Given the description of an element on the screen output the (x, y) to click on. 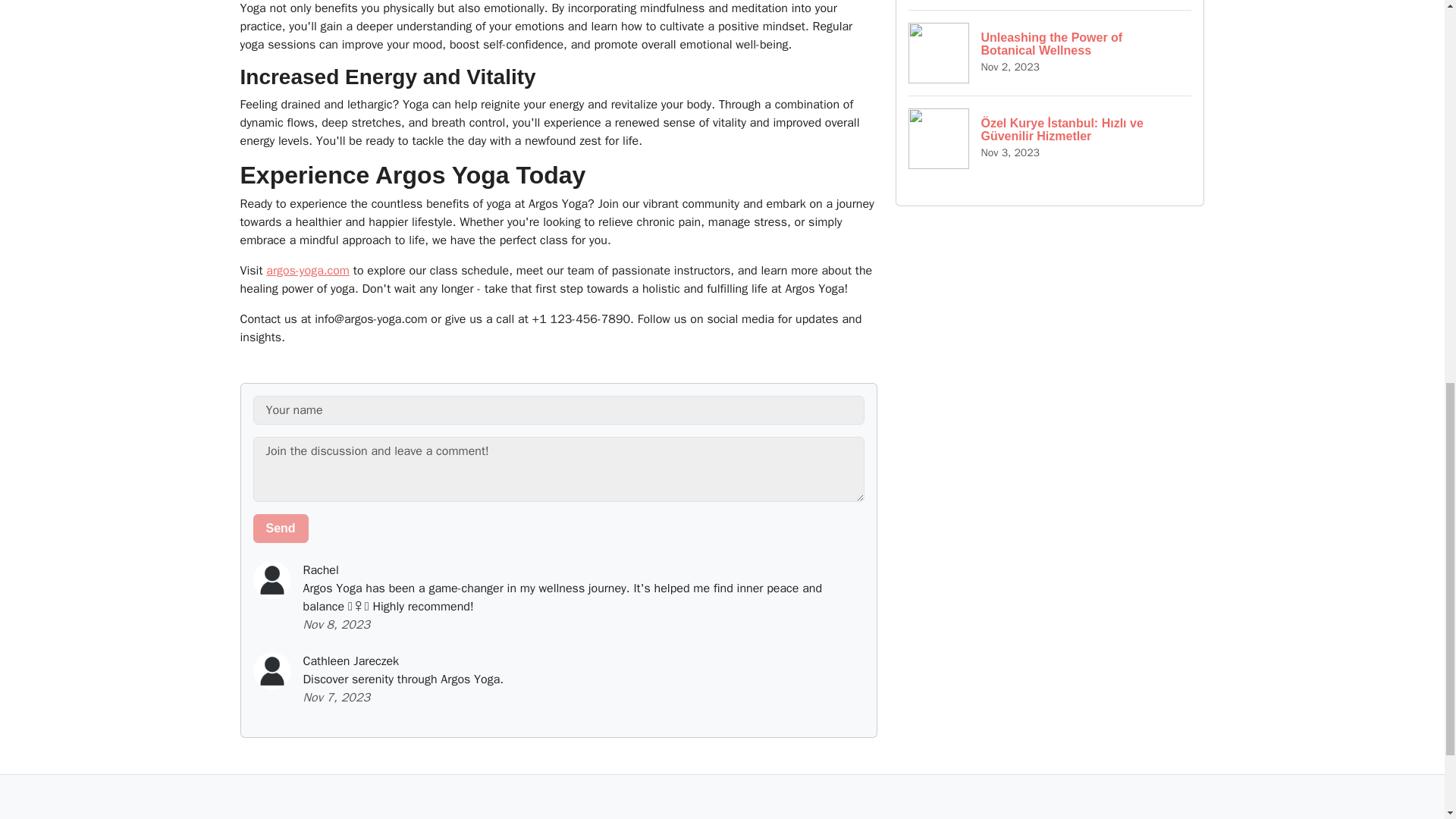
Privacy policy (672, 815)
Terms of service (1050, 52)
Send (762, 815)
Send (280, 528)
argos-yoga.com (280, 528)
